Given the description of an element on the screen output the (x, y) to click on. 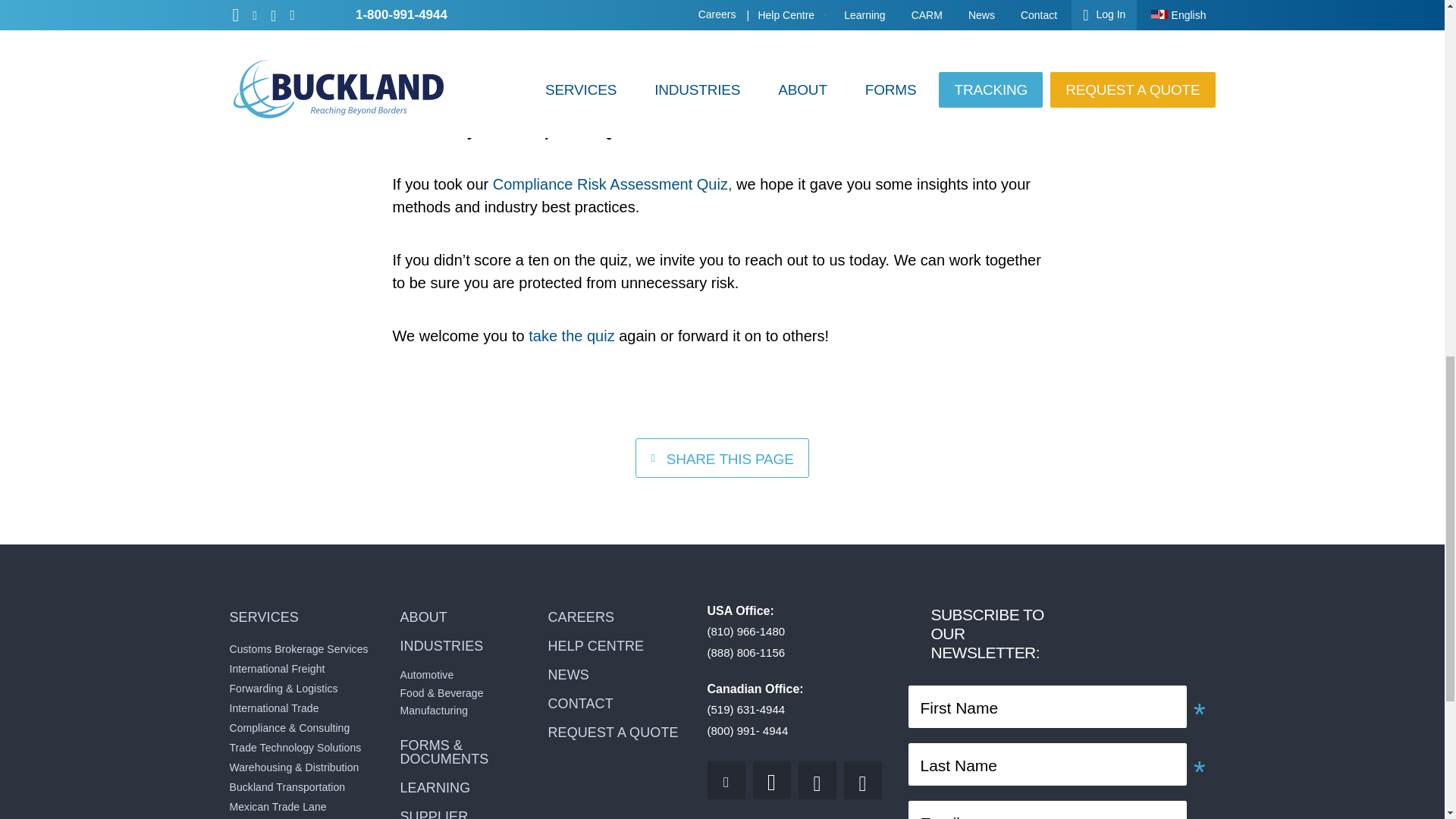
Follow us on Instagram (816, 780)
Follow us on Facebook (863, 780)
Follow us on Twitter (725, 780)
Follow us on Linkedin (771, 780)
